Given the description of an element on the screen output the (x, y) to click on. 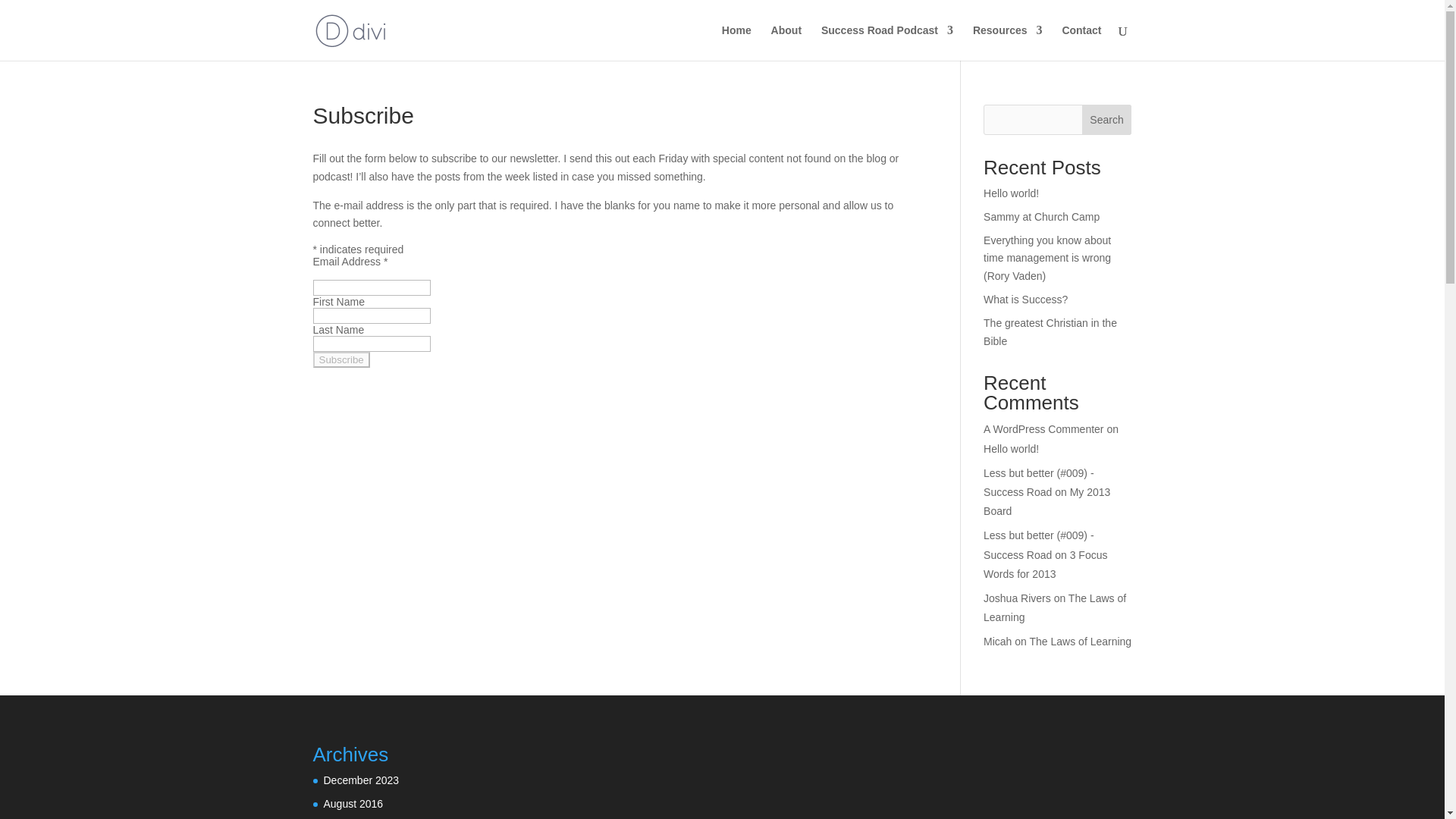
December 2023 (360, 779)
The Laws of Learning (1080, 641)
Joshua Rivers (1017, 598)
Success Road Podcast (887, 42)
Hello world! (1011, 449)
Subscribe (341, 359)
The greatest Christian in the Bible (1050, 331)
August 2016 (352, 803)
Contact (1080, 42)
Micah (997, 641)
Sammy at Church Camp (1041, 216)
A WordPress Commenter (1043, 428)
Resources (1007, 42)
The Laws of Learning (1054, 607)
Search (1106, 119)
